Given the description of an element on the screen output the (x, y) to click on. 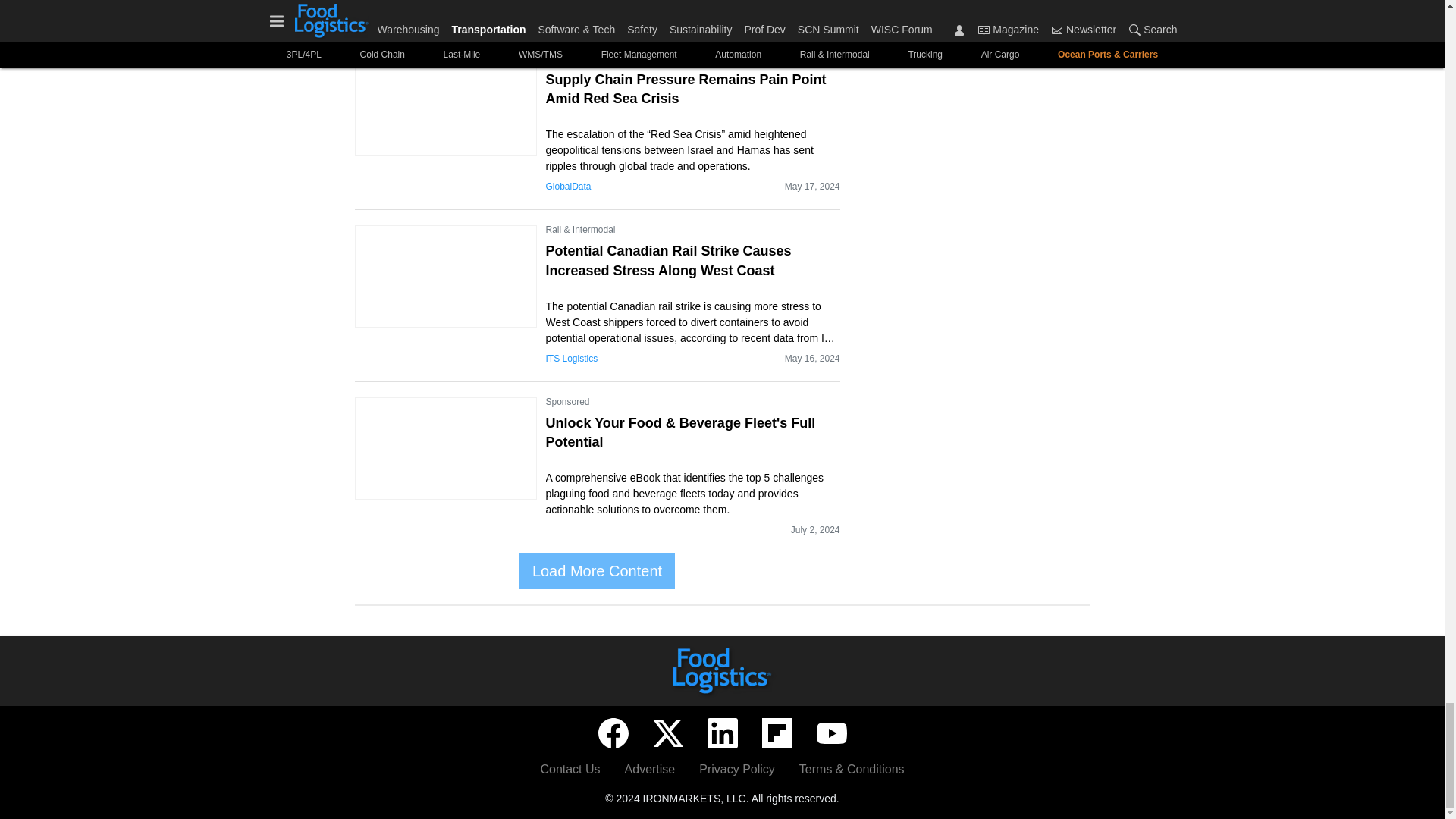
Facebook icon (611, 733)
YouTube icon (830, 733)
Twitter X icon (667, 733)
LinkedIn icon (721, 733)
Flipboard icon (776, 733)
